Given the description of an element on the screen output the (x, y) to click on. 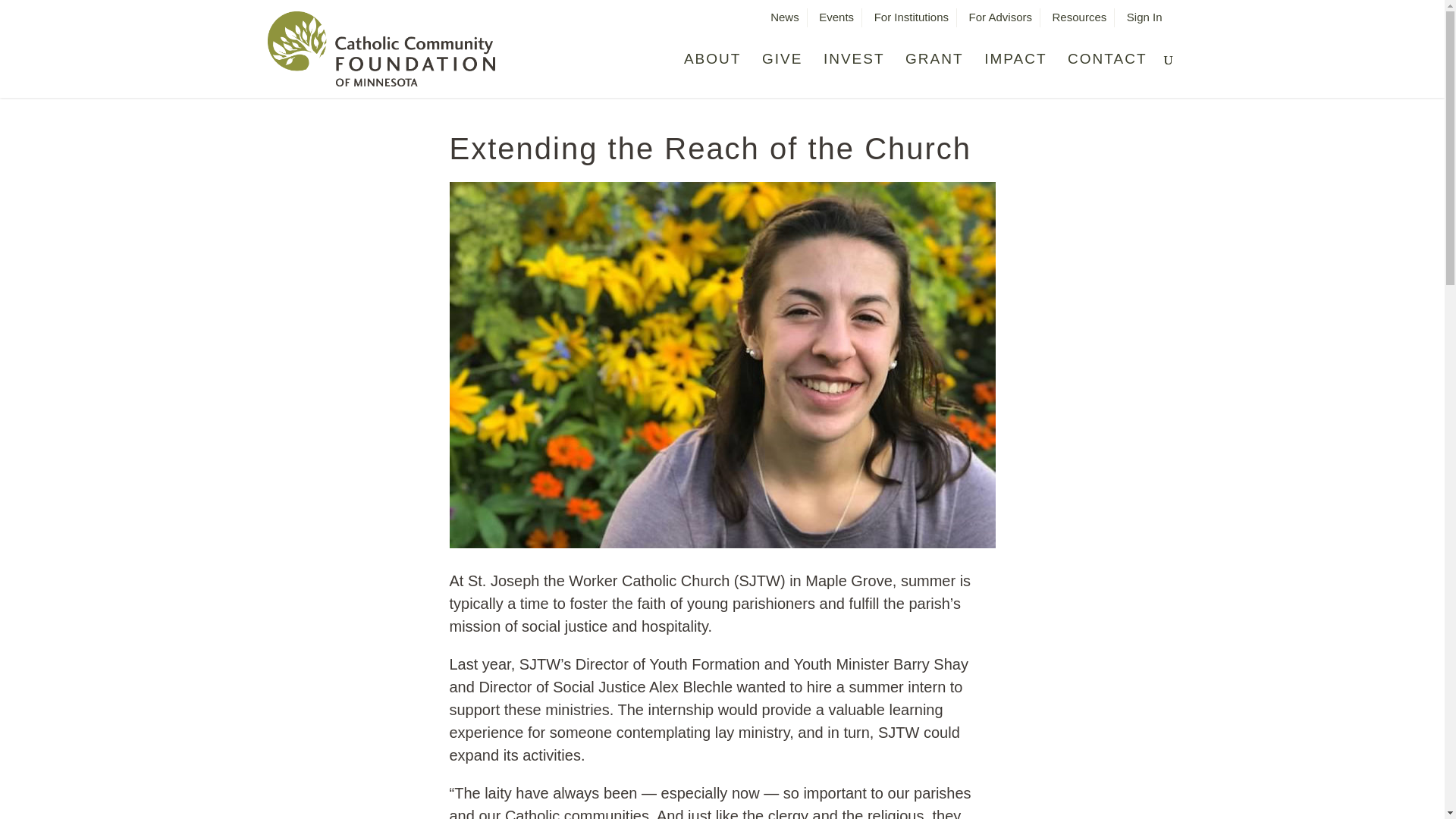
CONTACT (1107, 70)
News (784, 21)
For Advisors (1000, 21)
GIVE (781, 70)
ABOUT (712, 70)
GRANT (934, 70)
Sign In (1143, 21)
INVEST (854, 70)
For Institutions (912, 21)
Events (835, 21)
